Given the description of an element on the screen output the (x, y) to click on. 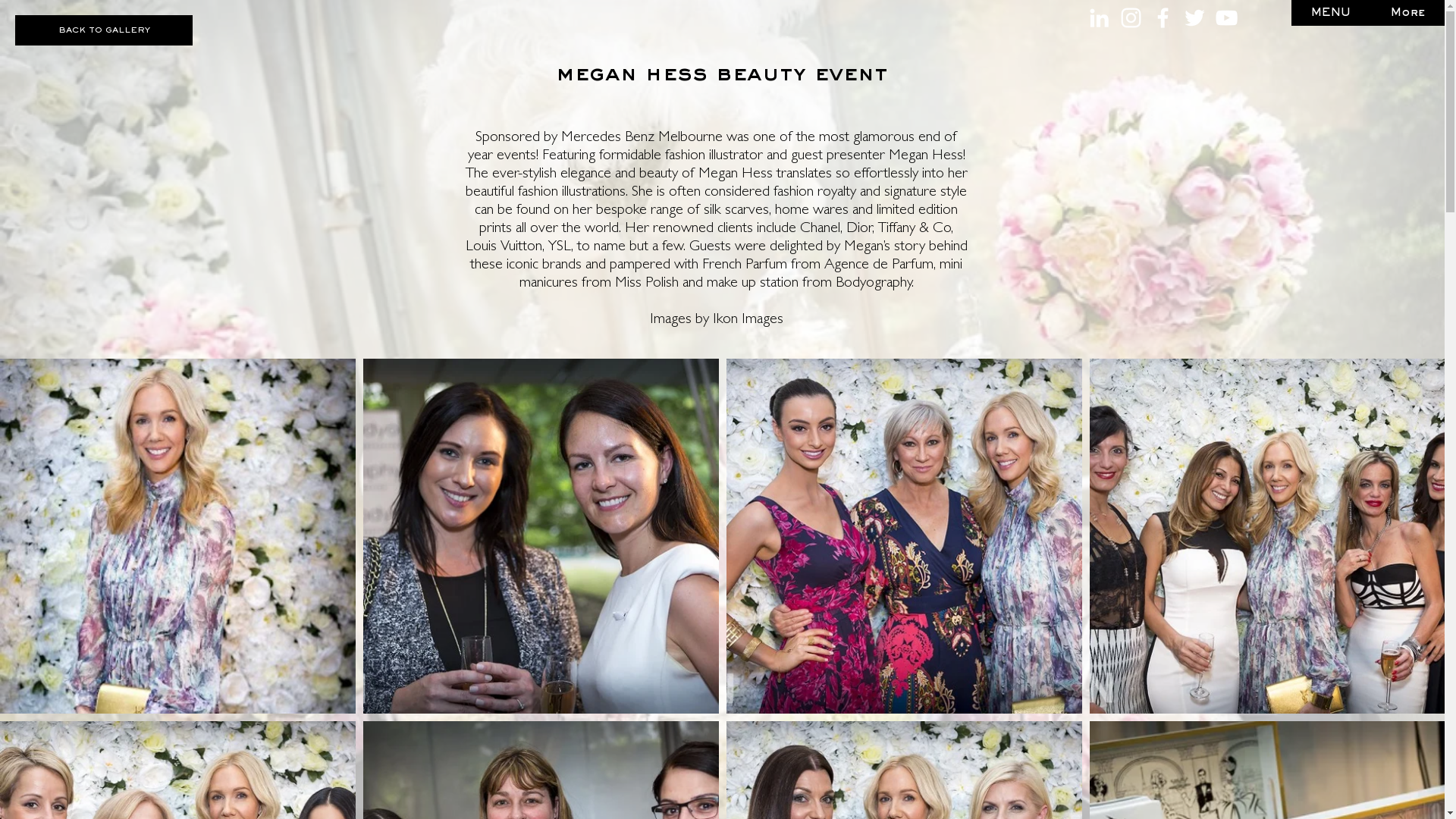
BACK TO GALLERY Element type: text (103, 30)
